Given the description of an element on the screen output the (x, y) to click on. 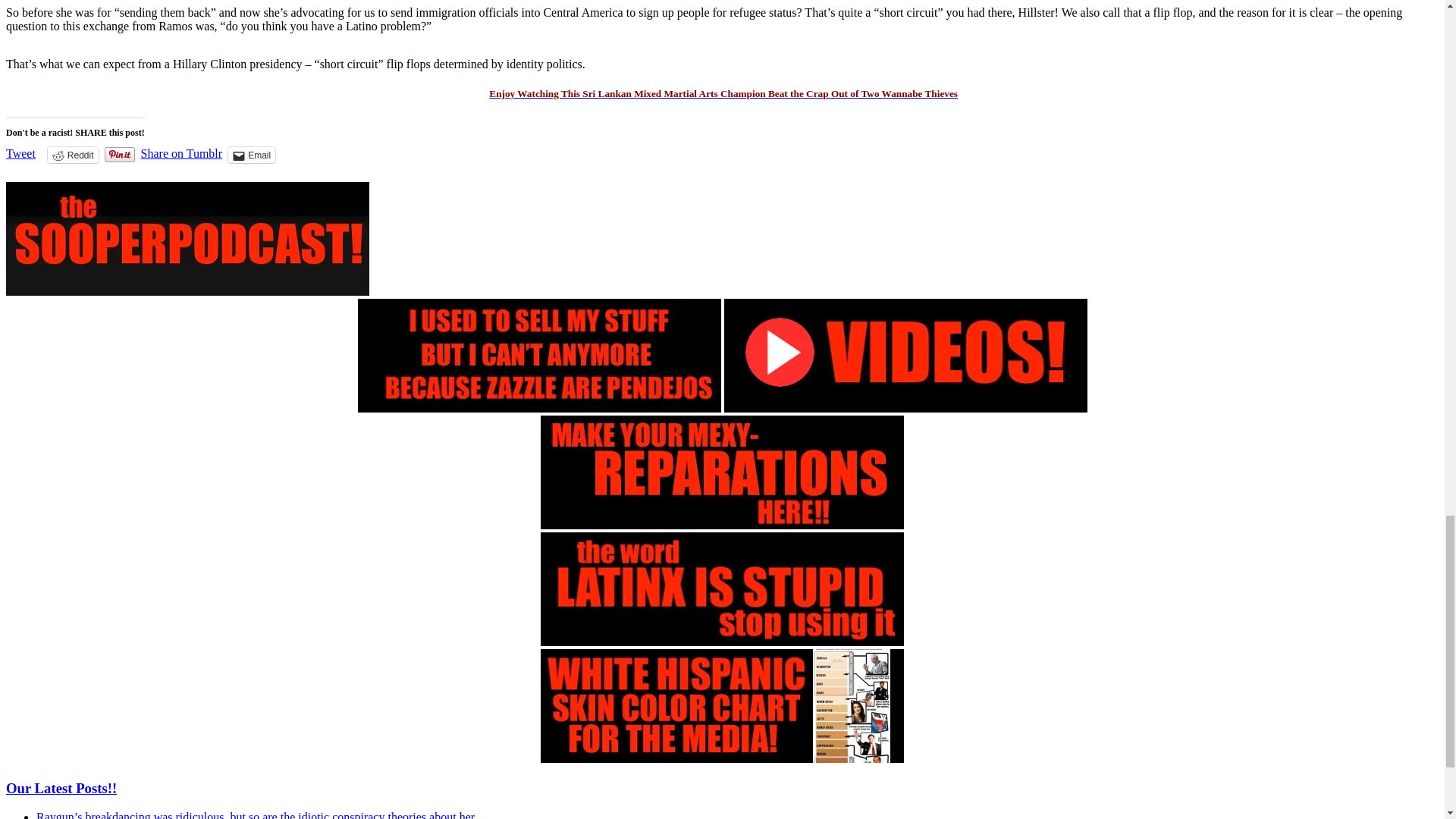
Email (251, 154)
Reddit (73, 154)
Tweet (19, 153)
Share on Tumblr (181, 153)
Click to email a link to a friend (251, 154)
Click to share on Reddit (73, 154)
Share on Tumblr (181, 153)
